Given the description of an element on the screen output the (x, y) to click on. 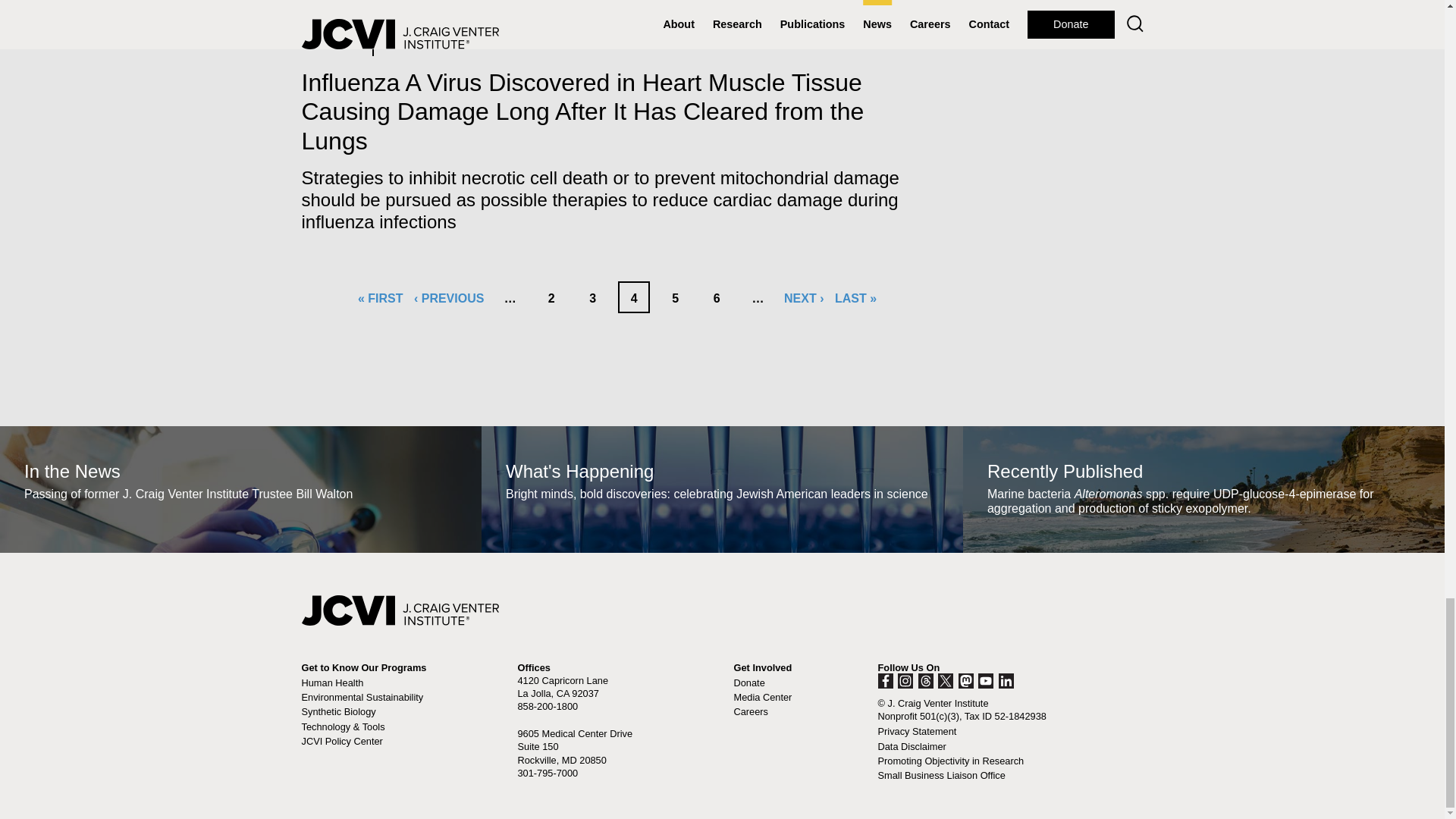
Go to page 6 (716, 297)
Go to next page (804, 297)
Go to previous page (448, 297)
Go to page 3 (593, 297)
Go to last page (855, 297)
Go to first page (380, 297)
Go to page 5 (675, 297)
Go to page 2 (550, 297)
